Given the description of an element on the screen output the (x, y) to click on. 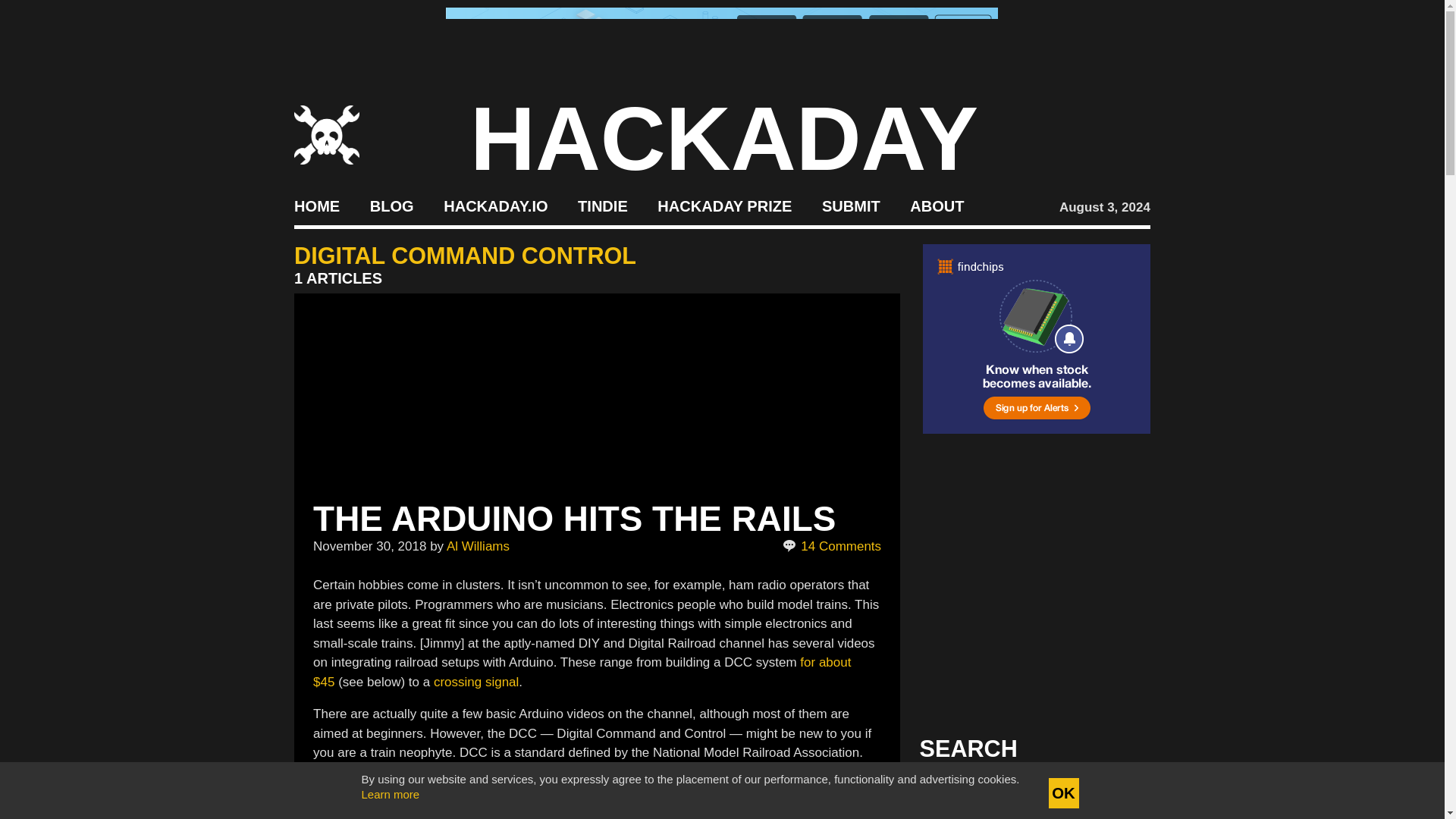
14 Comments (832, 546)
Build Something that Matters (725, 205)
HACKADAY.IO (495, 205)
Al Williams (477, 545)
THE ARDUINO HITS THE RAILS (574, 518)
crossing signal (475, 681)
ABOUT (936, 205)
SUBMIT (851, 205)
HACKADAY (724, 138)
TINDIE (602, 205)
HOME (316, 205)
November 30, 2018 - 10:00 pm (369, 545)
BLOG (391, 205)
November 30, 2018 (369, 545)
Search (1115, 792)
